Given the description of an element on the screen output the (x, y) to click on. 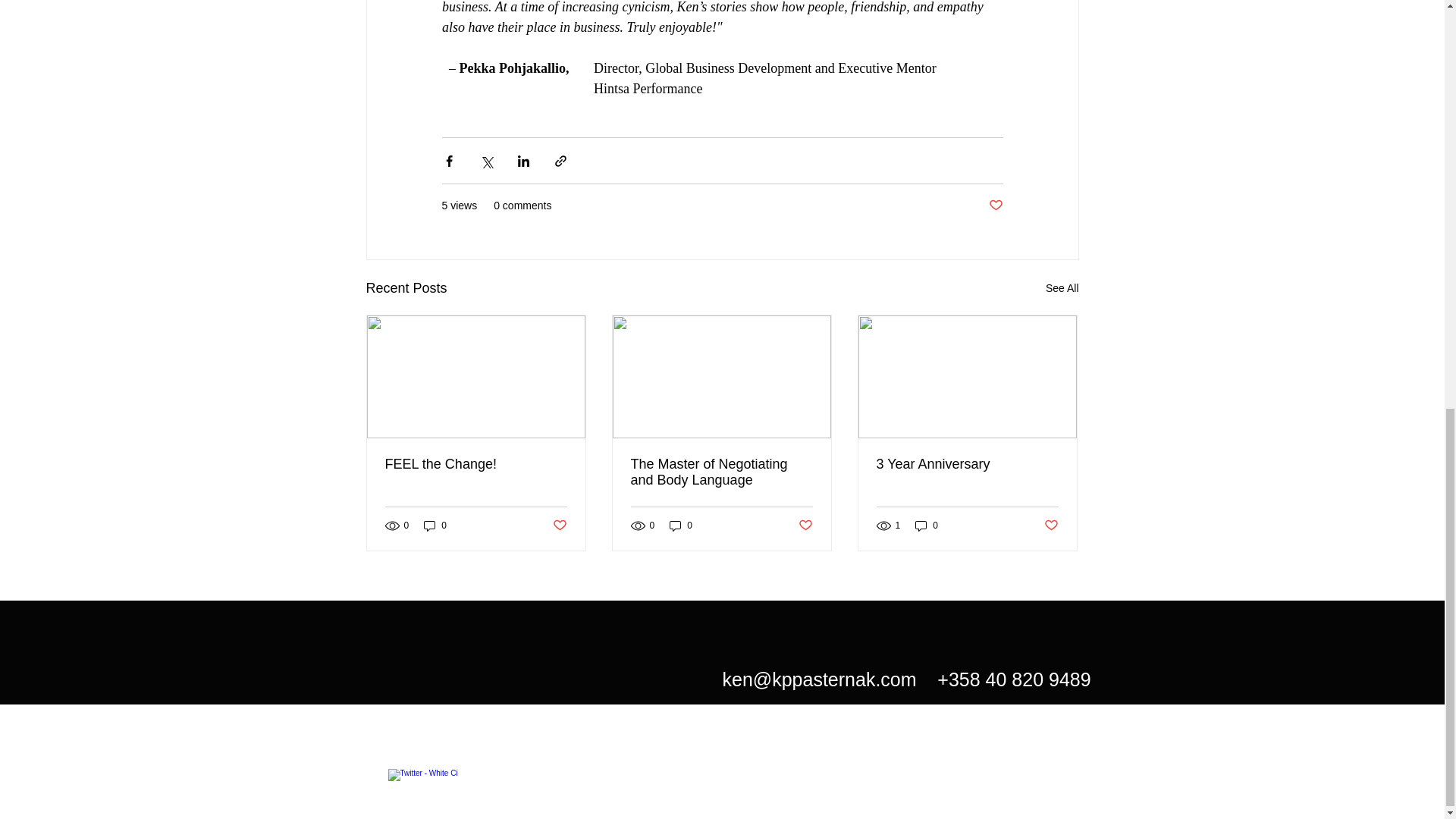
Post not marked as liked (558, 524)
See All (1061, 288)
The Master of Negotiating and Body Language (721, 472)
0 (435, 525)
0 (926, 525)
Post not marked as liked (995, 205)
Post not marked as liked (1050, 524)
FEEL the Change! (476, 464)
Post not marked as liked (804, 524)
0 (681, 525)
